Given the description of an element on the screen output the (x, y) to click on. 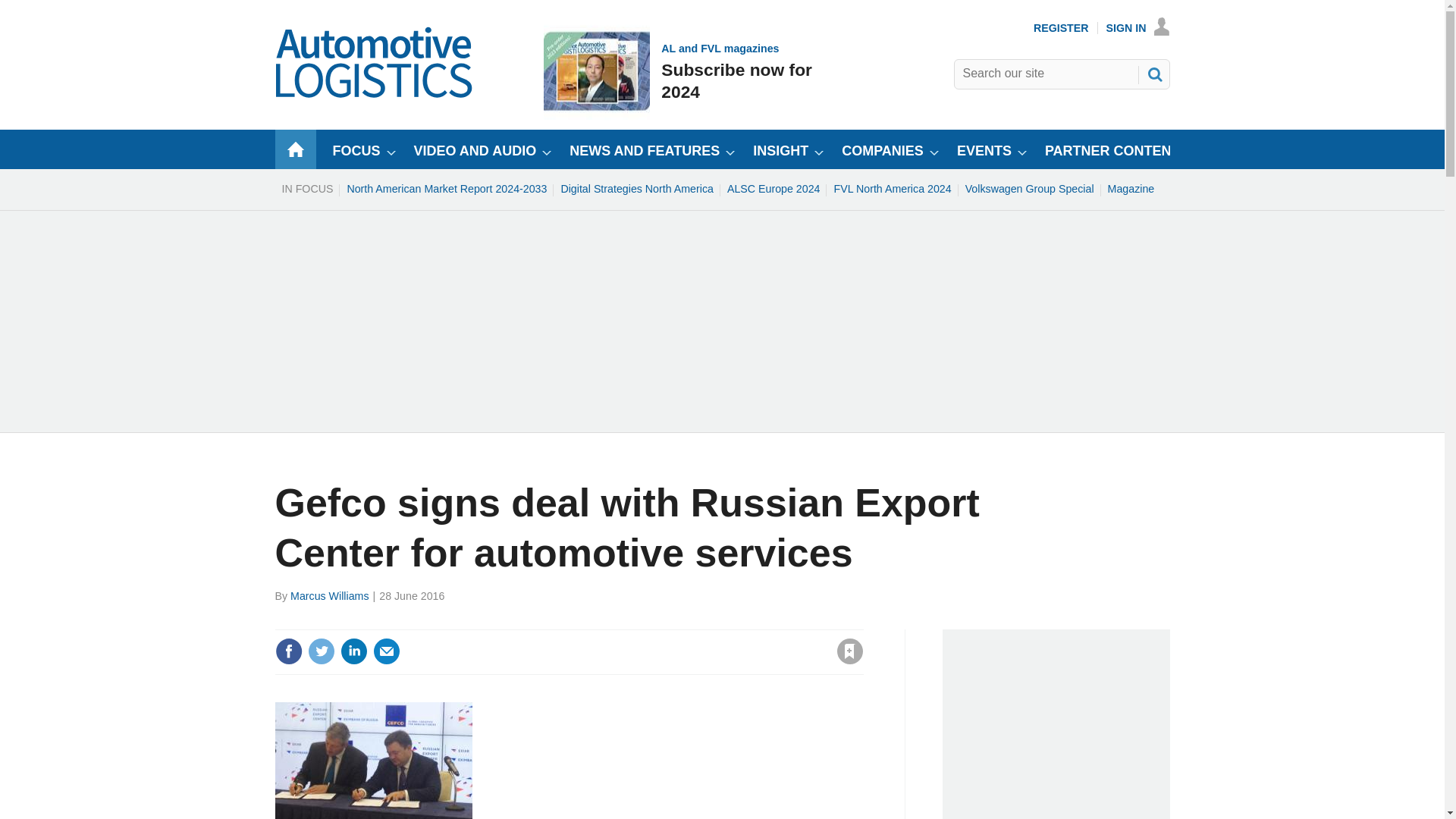
Volkswagen Group Special (1029, 188)
Magazine (1130, 188)
Share this on Facebook (288, 651)
FVL North America 2024 (892, 188)
REGISTER (1061, 28)
Email this article (386, 651)
Share this on Twitter (320, 651)
SIGN IN (679, 70)
